Given the description of an element on the screen output the (x, y) to click on. 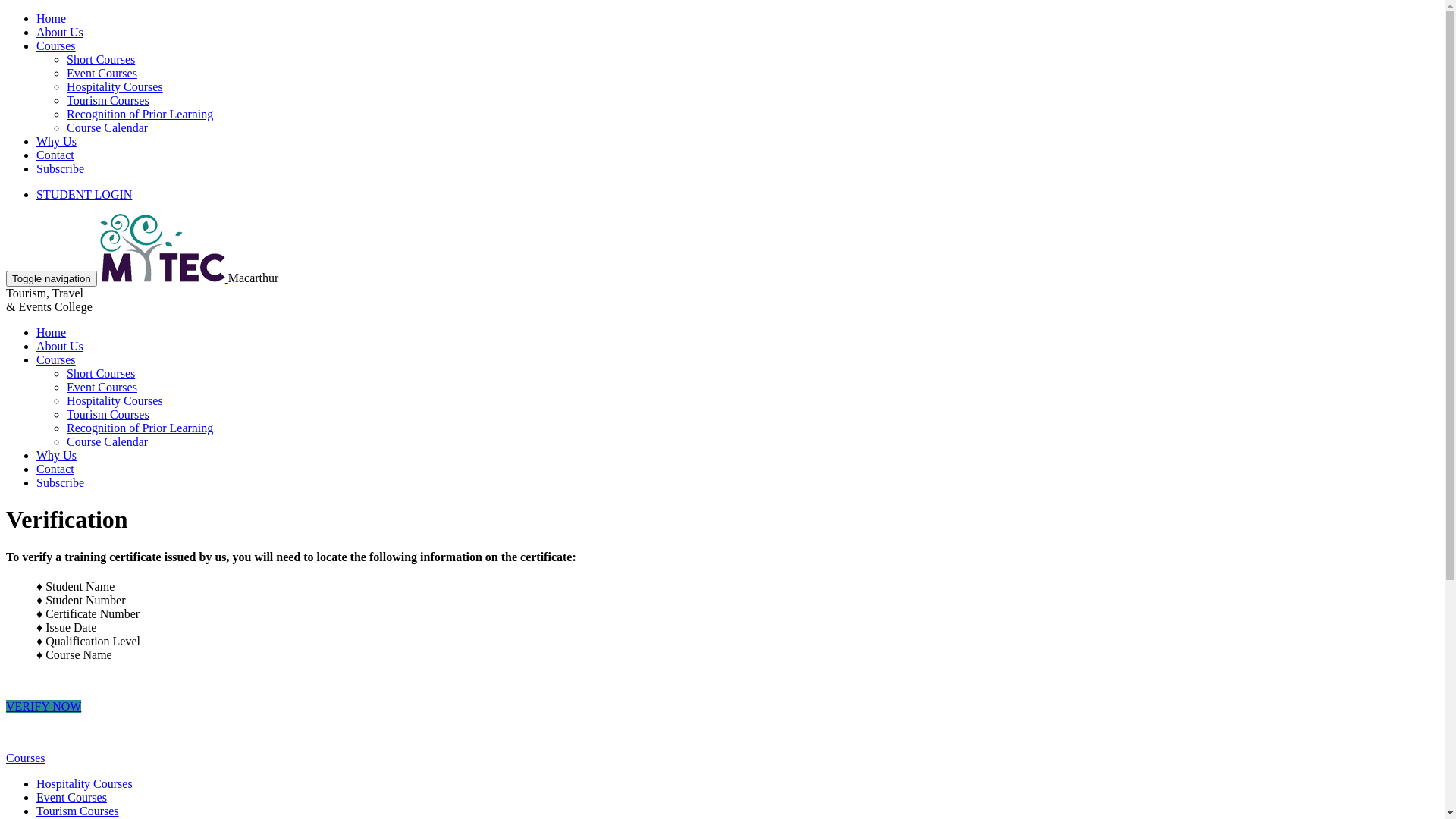
Subscribe Element type: text (60, 482)
Course Calendar Element type: text (106, 127)
Hospitality Courses Element type: text (114, 86)
Event Courses Element type: text (101, 72)
STUDENT LOGIN Element type: text (83, 194)
Hospitality Courses Element type: text (114, 400)
Courses Element type: text (55, 45)
About Us Element type: text (59, 31)
Home Element type: text (50, 18)
Short Courses Element type: text (100, 59)
Contact Element type: text (55, 154)
Tourism Courses Element type: text (107, 413)
Hospitality Courses Element type: text (84, 783)
Subscribe Element type: text (60, 168)
Tourism Courses Element type: text (107, 100)
Why Us Element type: text (56, 454)
Recognition of Prior Learning Element type: text (139, 113)
VERIFY NOW Element type: text (43, 705)
Courses Element type: text (25, 757)
About Us Element type: text (59, 345)
Tourism Courses Element type: text (77, 810)
Short Courses Element type: text (100, 373)
Event Courses Element type: text (101, 386)
Event Courses Element type: text (71, 796)
Courses Element type: text (55, 359)
Home Element type: text (50, 332)
Toggle navigation Element type: text (51, 278)
Course Calendar Element type: text (106, 441)
Recognition of Prior Learning Element type: text (139, 427)
Why Us Element type: text (56, 140)
Contact Element type: text (55, 468)
